Given the description of an element on the screen output the (x, y) to click on. 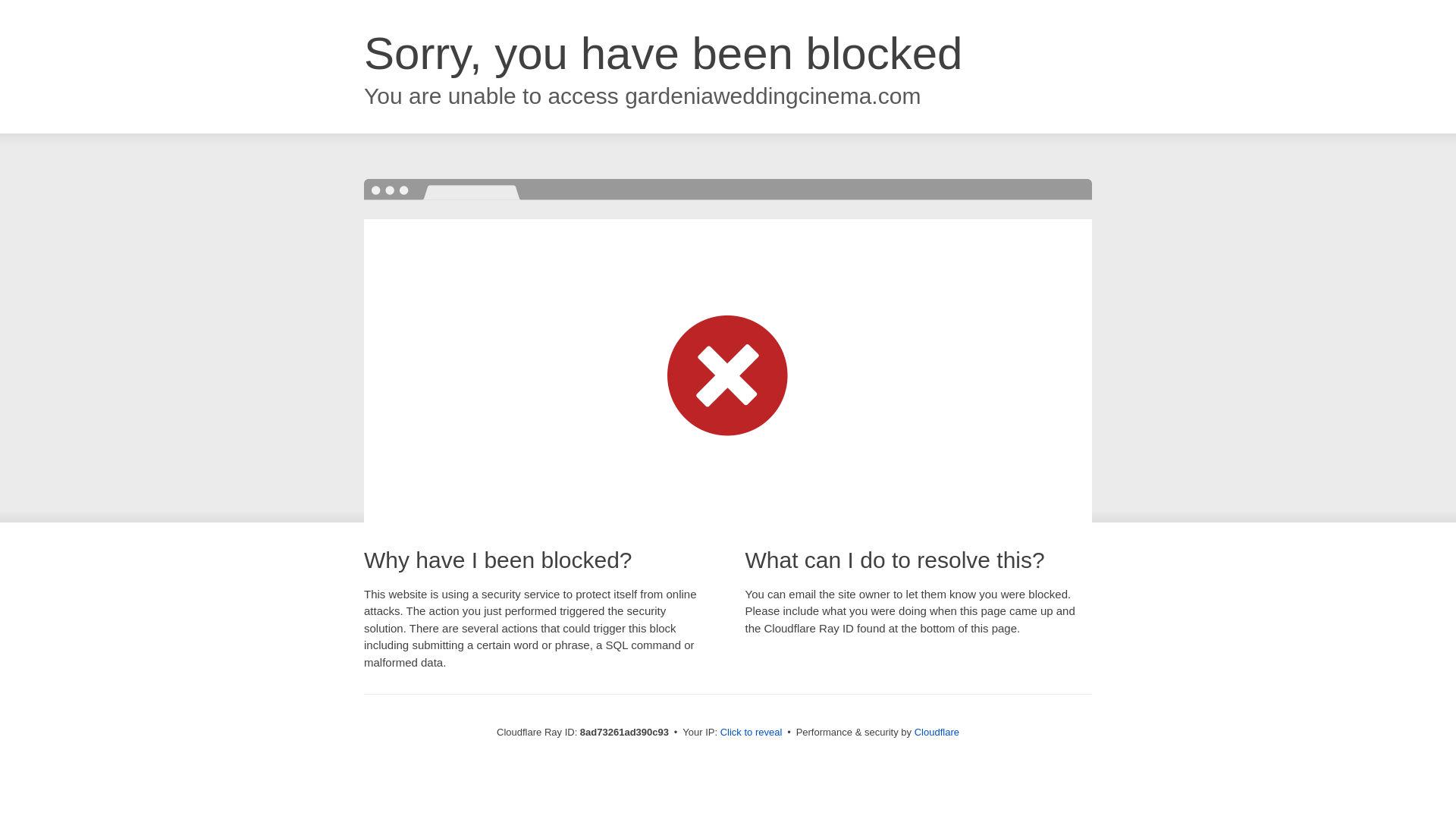
Click to reveal (751, 732)
Cloudflare (936, 731)
